Given the description of an element on the screen output the (x, y) to click on. 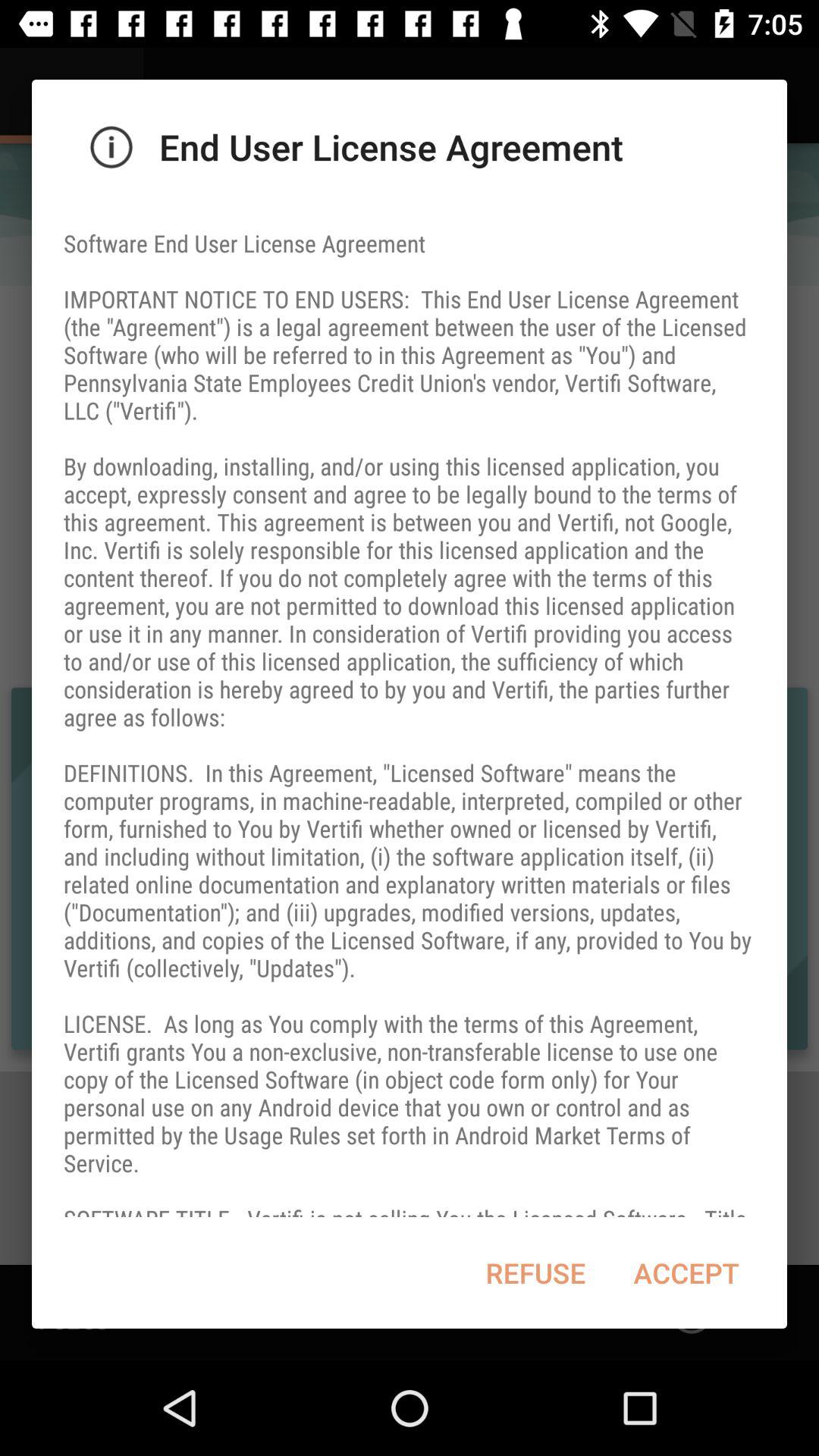
press the icon next to the refuse item (686, 1272)
